Given the description of an element on the screen output the (x, y) to click on. 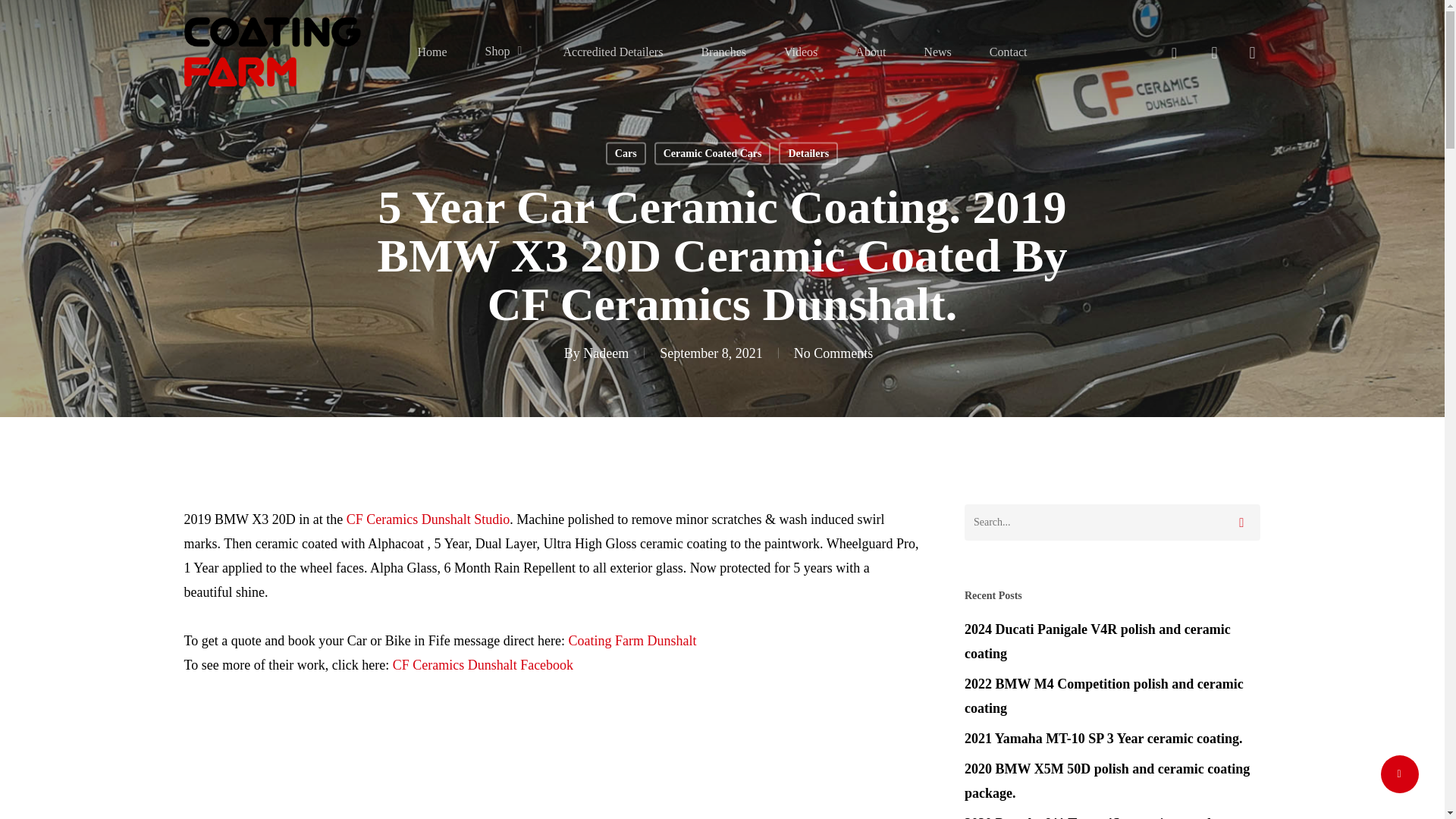
About (869, 51)
Shop (504, 51)
Videos (800, 51)
News (936, 51)
Home (431, 51)
Search for: (1111, 522)
Posts by Nadeem (605, 353)
Contact (1008, 51)
Branches (723, 51)
Accredited Detailers (612, 51)
